Given the description of an element on the screen output the (x, y) to click on. 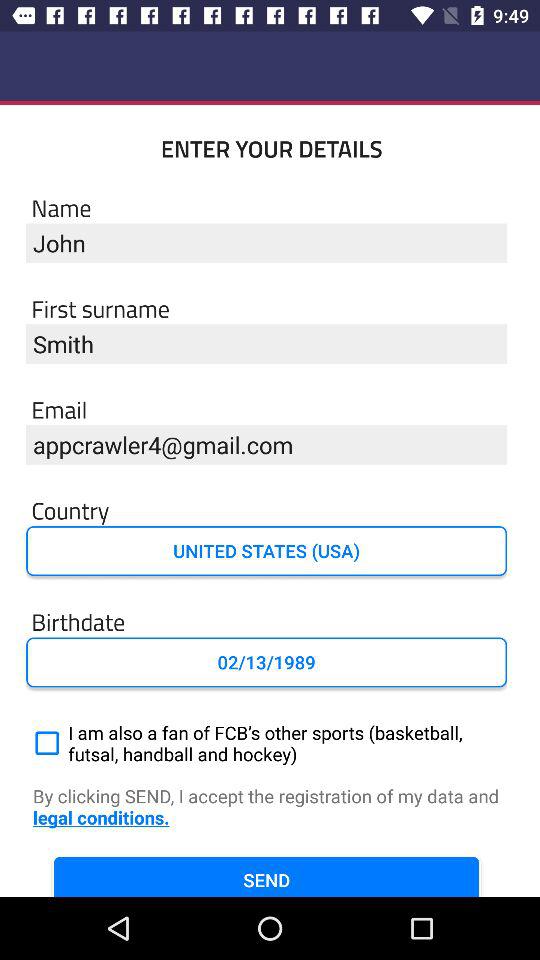
turn off the item below first surname (266, 343)
